Given the description of an element on the screen output the (x, y) to click on. 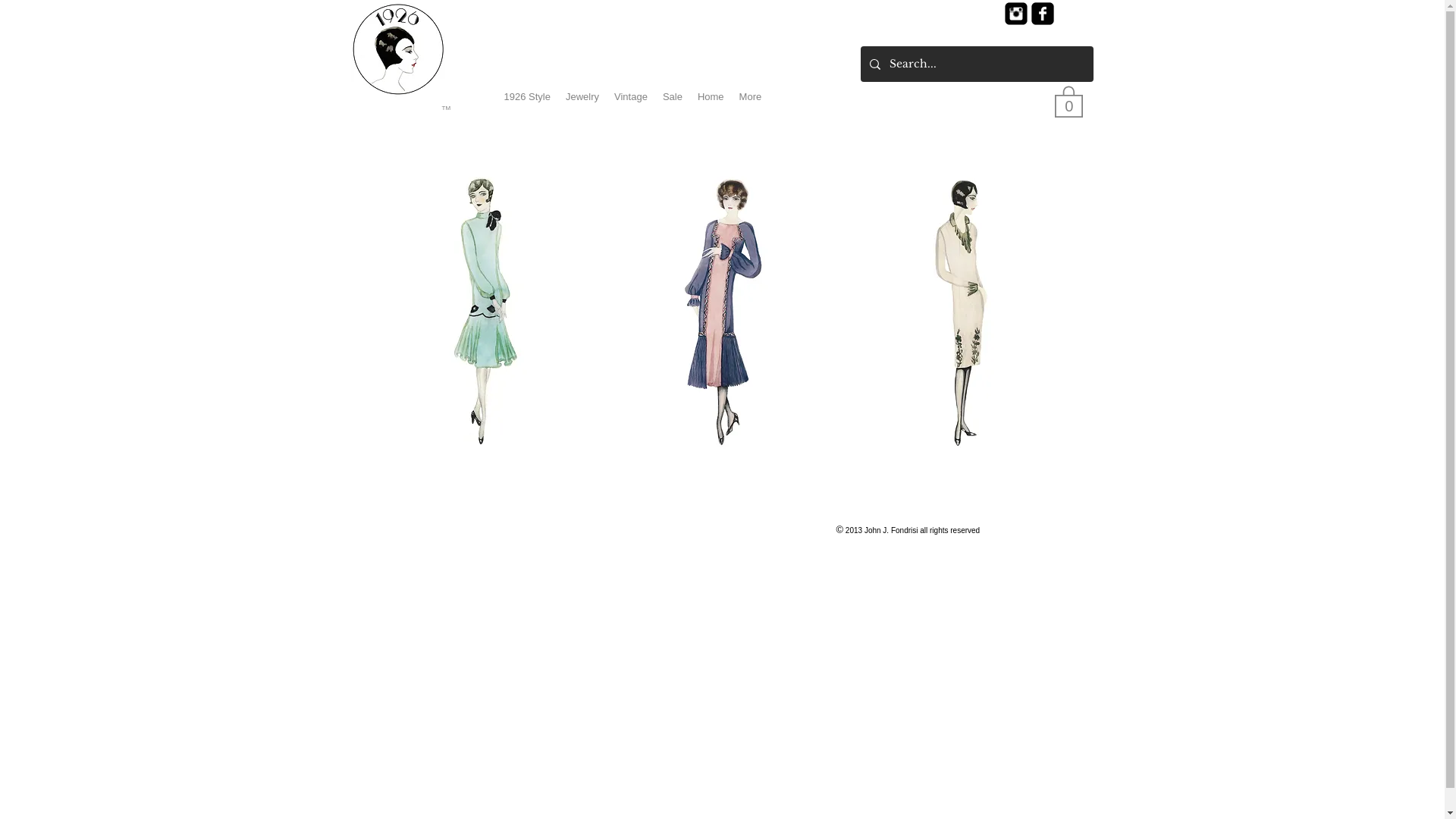
Home Element type: text (710, 102)
Jewelry Element type: text (581, 102)
Sale Element type: text (672, 102)
Vintage Element type: text (630, 102)
1926 Style Element type: text (527, 102)
0 Element type: text (1068, 100)
